Given the description of an element on the screen output the (x, y) to click on. 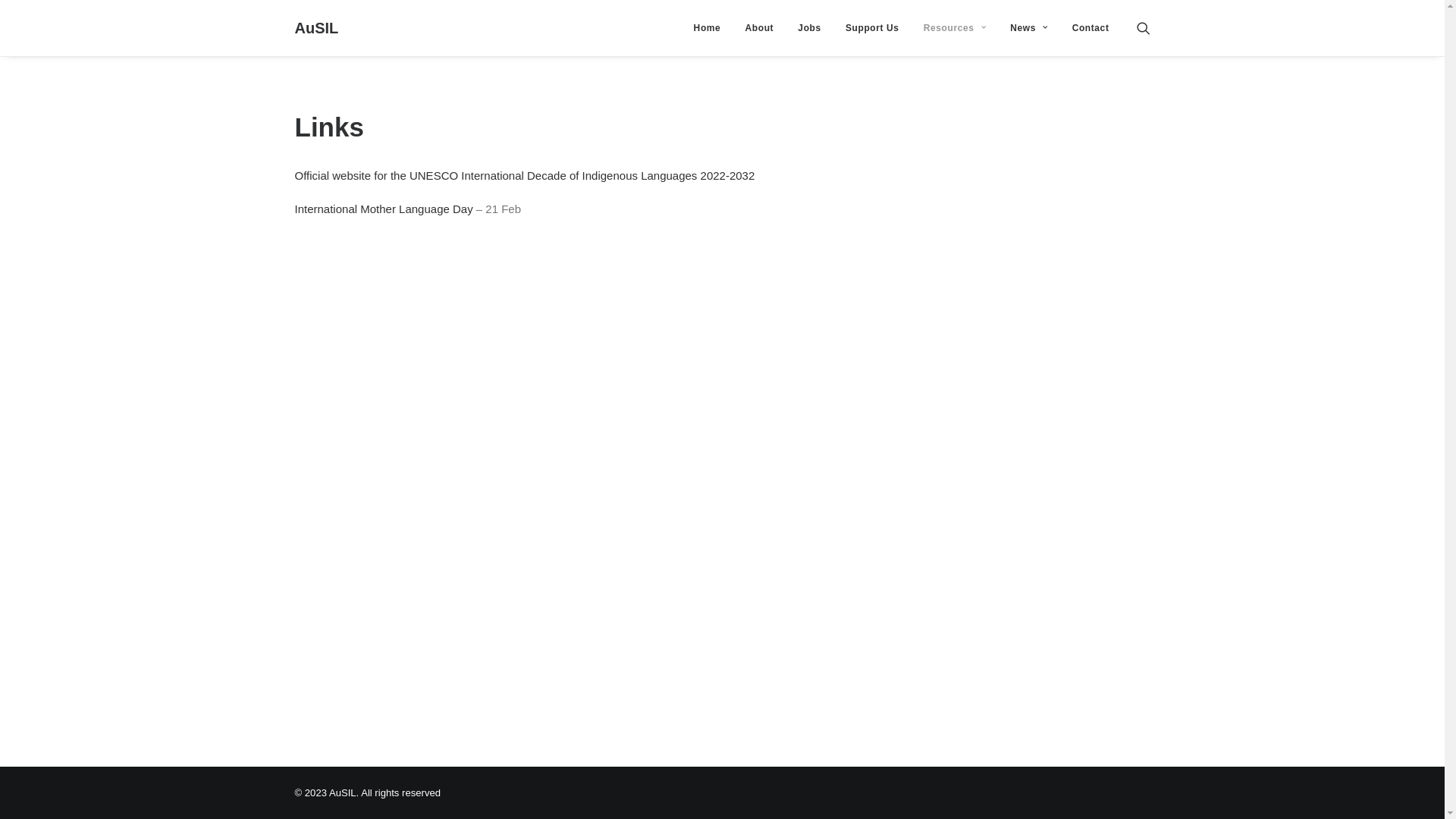
International Mother Language Day Element type: text (383, 208)
Contact Element type: text (1085, 28)
AuSIL Element type: text (316, 27)
News Element type: text (1028, 28)
About Element type: text (759, 28)
Support Us Element type: text (872, 28)
Resources Element type: text (954, 28)
Home Element type: text (707, 28)
Jobs Element type: text (809, 28)
